Given the description of an element on the screen output the (x, y) to click on. 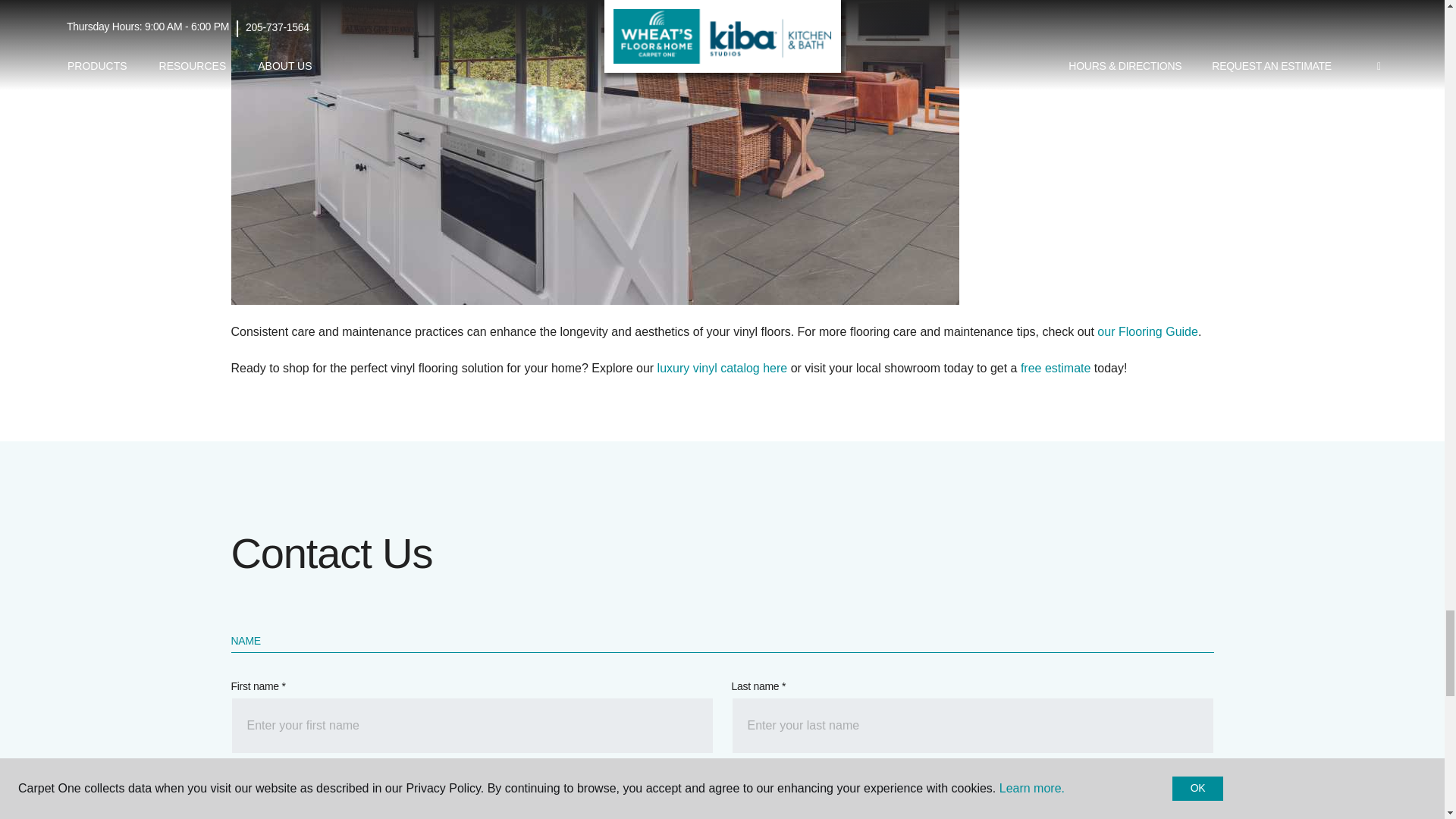
LastName (971, 725)
FirstName (471, 725)
